Given the description of an element on the screen output the (x, y) to click on. 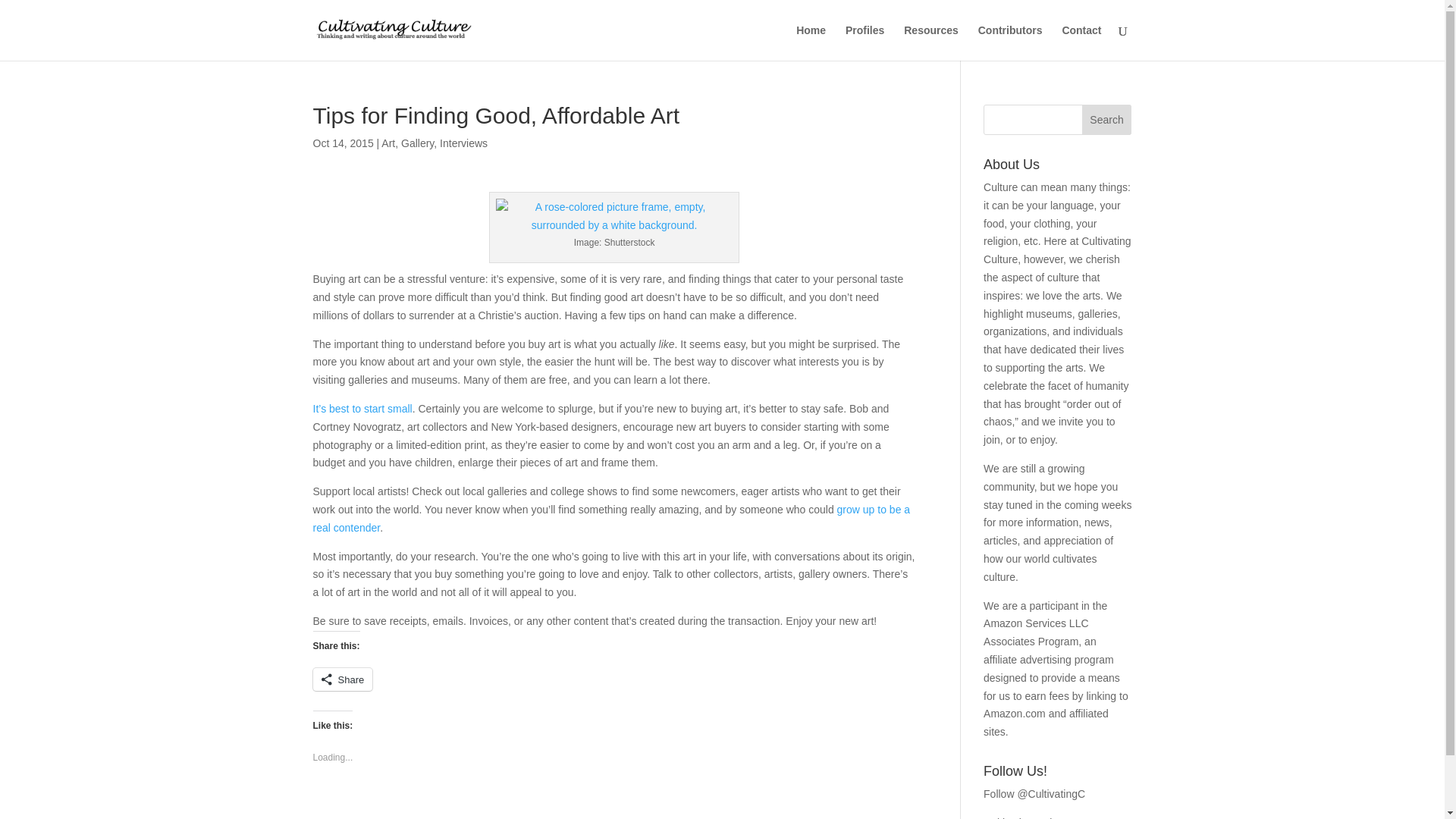
Contact (1080, 42)
Share (342, 679)
Art (387, 143)
Interviews (463, 143)
Resources (931, 42)
grow up to be a real contender (611, 518)
Contributors (1010, 42)
Gallery (417, 143)
Search (1106, 119)
Profiles (864, 42)
